Given the description of an element on the screen output the (x, y) to click on. 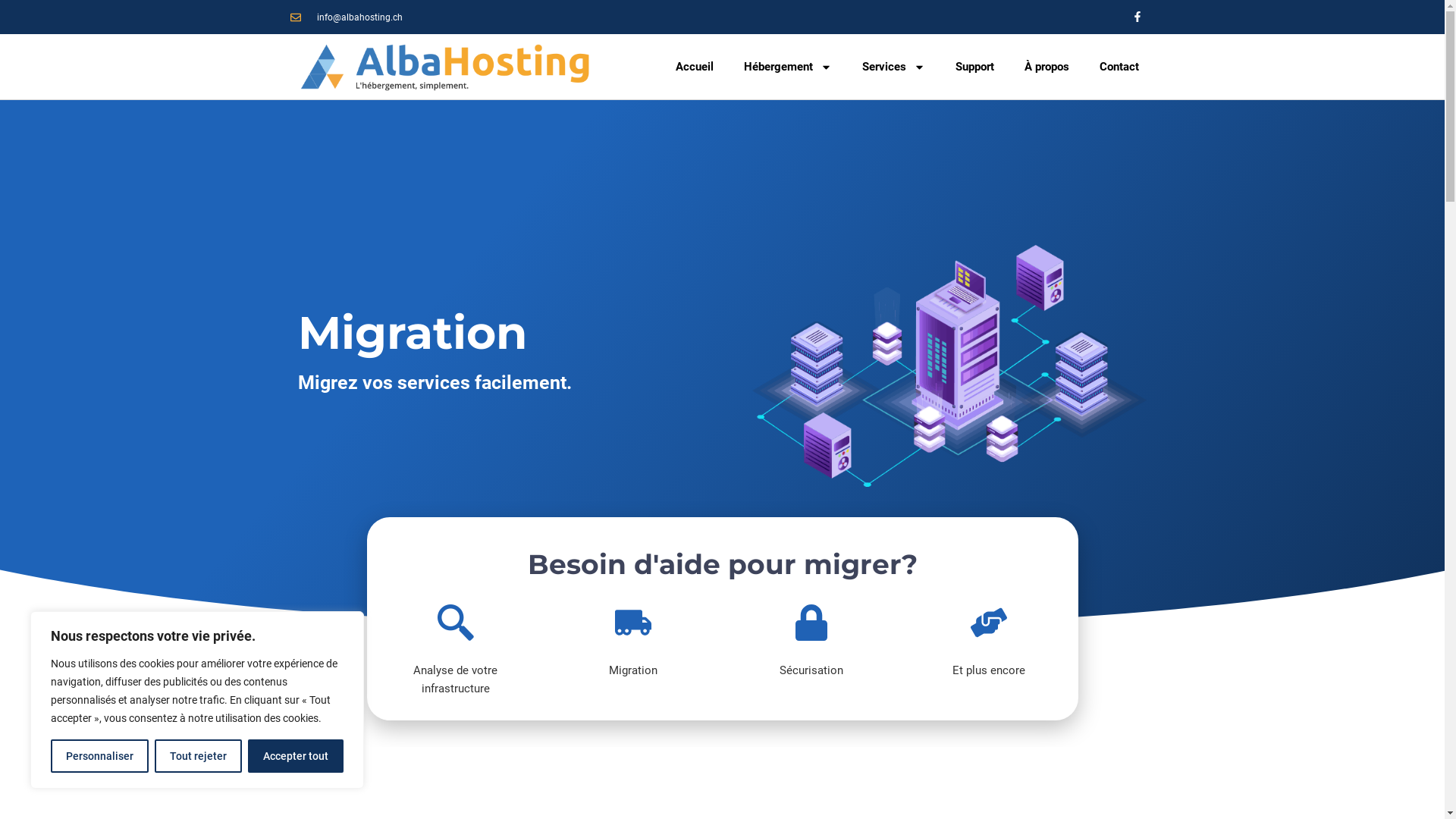
Personnaliser Element type: text (99, 755)
Support Element type: text (974, 66)
Services Element type: text (893, 66)
info@albahosting.ch Element type: text (345, 16)
Contact Element type: text (1119, 66)
Facebook-f Element type: text (1137, 17)
Accueil Element type: text (694, 66)
Accepter tout Element type: text (295, 755)
Logo_AlbaHosting_slogan_600x126 Element type: hover (444, 66)
Tout rejeter Element type: text (197, 755)
